Given the description of an element on the screen output the (x, y) to click on. 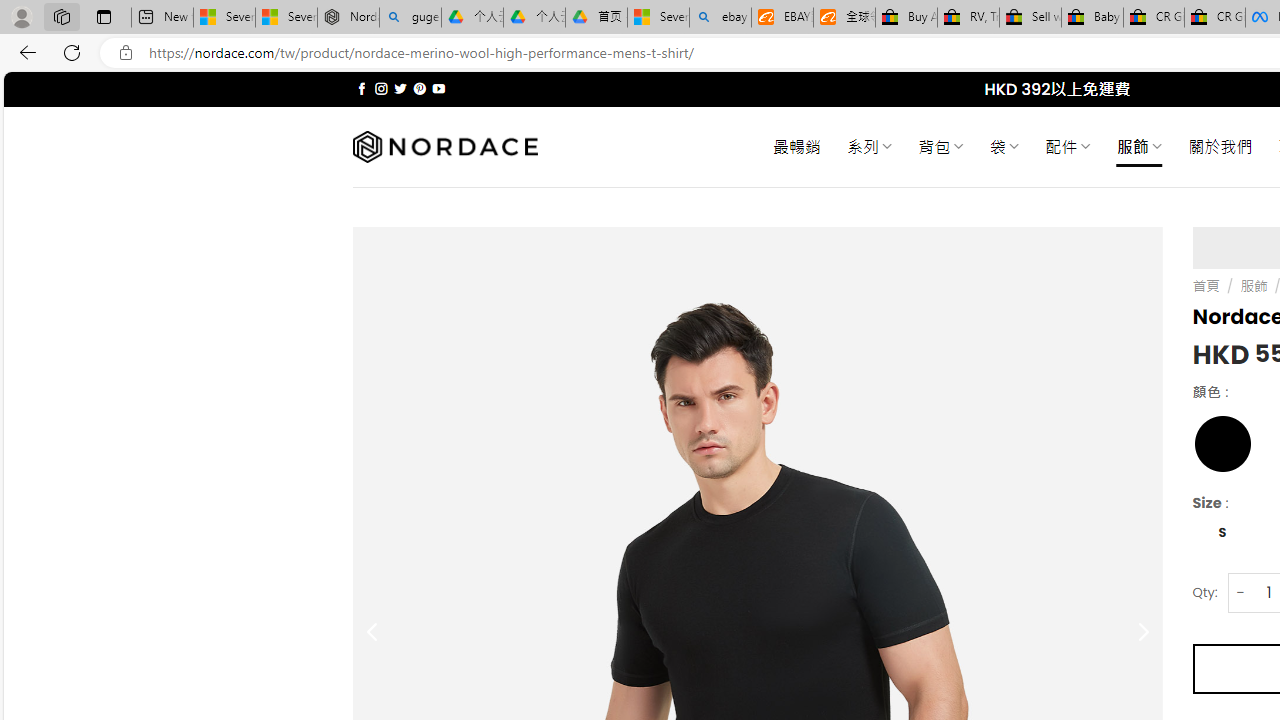
Follow on YouTube (438, 88)
Buy Auto Parts & Accessories | eBay (905, 17)
RV, Trailer & Camper Steps & Ladders for sale | eBay (968, 17)
Follow on Facebook (361, 88)
Follow on Instagram (381, 88)
